Given the description of an element on the screen output the (x, y) to click on. 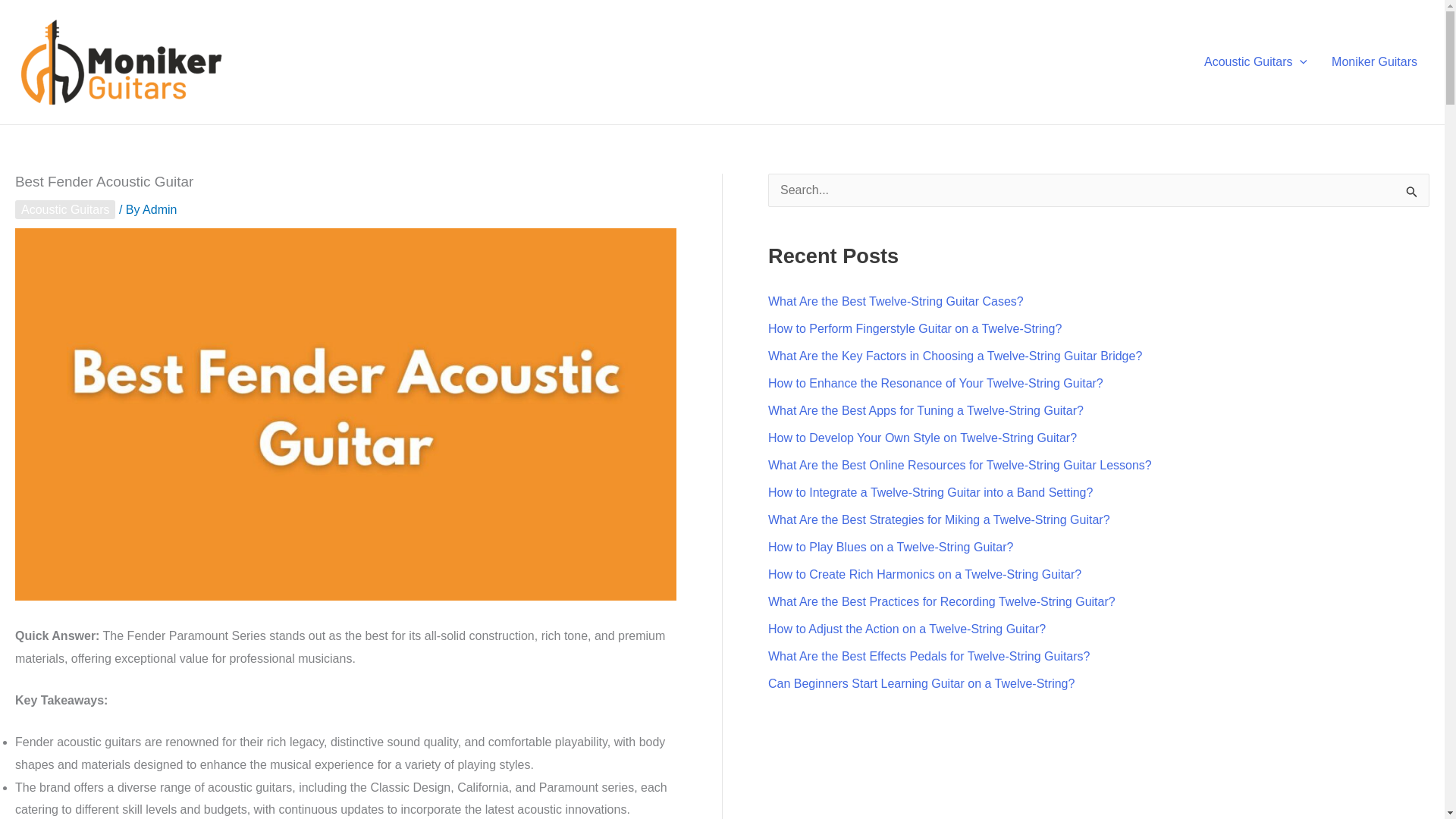
Moniker Guitars (1374, 61)
Acoustic Guitars (1255, 61)
Acoustic Guitars (64, 209)
View all posts by Admin (159, 209)
Admin (159, 209)
